Given the description of an element on the screen output the (x, y) to click on. 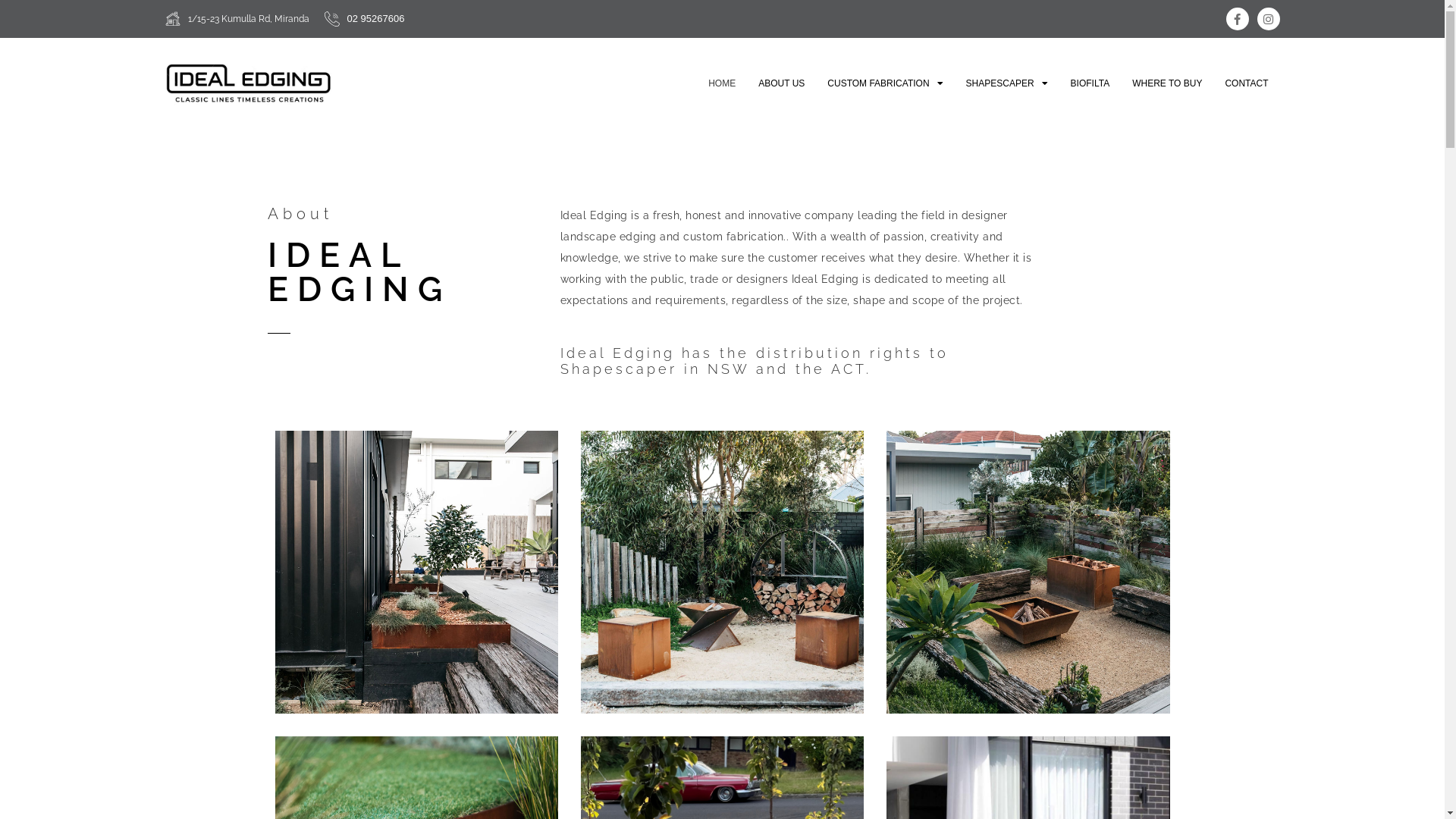
BIOFILTA Element type: text (1090, 82)
SHAPESCAPER Element type: text (1006, 82)
02 95267606 Element type: text (375, 18)
HOME Element type: text (721, 82)
WHERE TO BUY Element type: text (1166, 82)
CONTACT Element type: text (1246, 82)
ABOUT US Element type: text (780, 82)
CUSTOM FABRICATION Element type: text (884, 82)
